Given the description of an element on the screen output the (x, y) to click on. 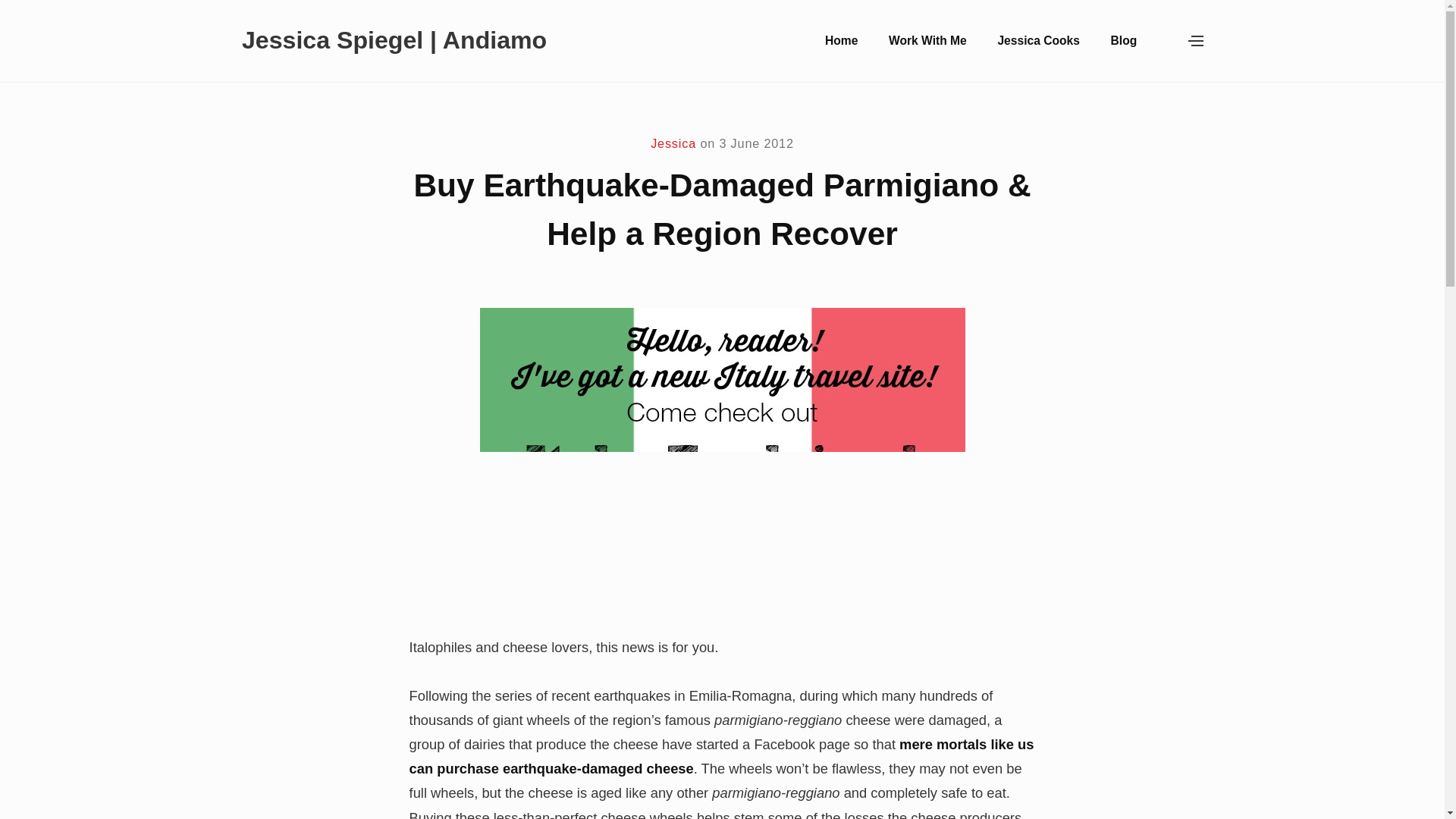
Jessica (672, 142)
SHOW SECONDARY SIDEBAR (1165, 41)
SHOW SECONDARY SIDEBAR (1195, 41)
